Given the description of an element on the screen output the (x, y) to click on. 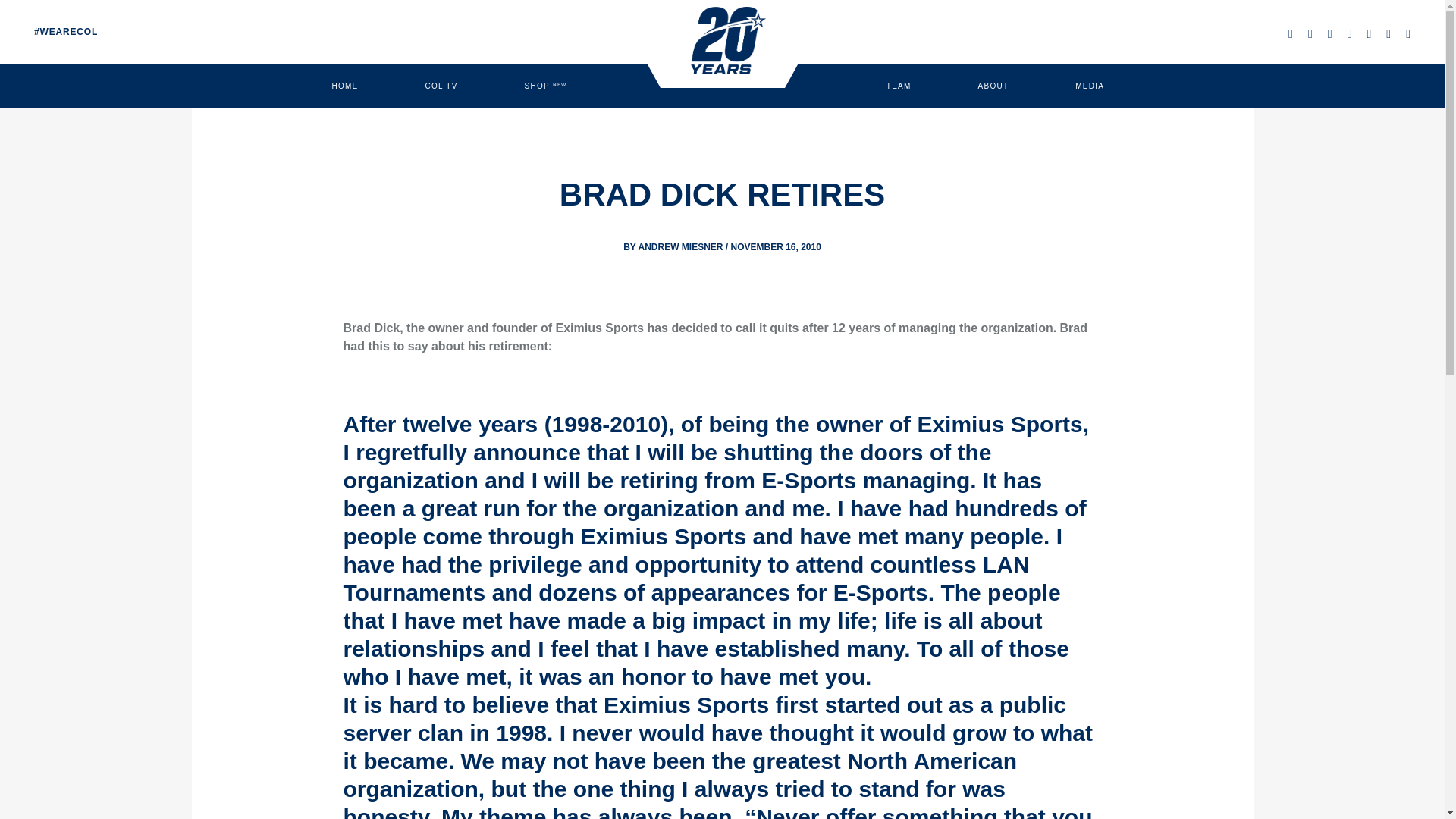
TEAM (898, 86)
ABOUT (993, 86)
Complexity Gaming (722, 40)
HOME (344, 86)
COL TV (441, 86)
MEDIA (1089, 86)
